Given the description of an element on the screen output the (x, y) to click on. 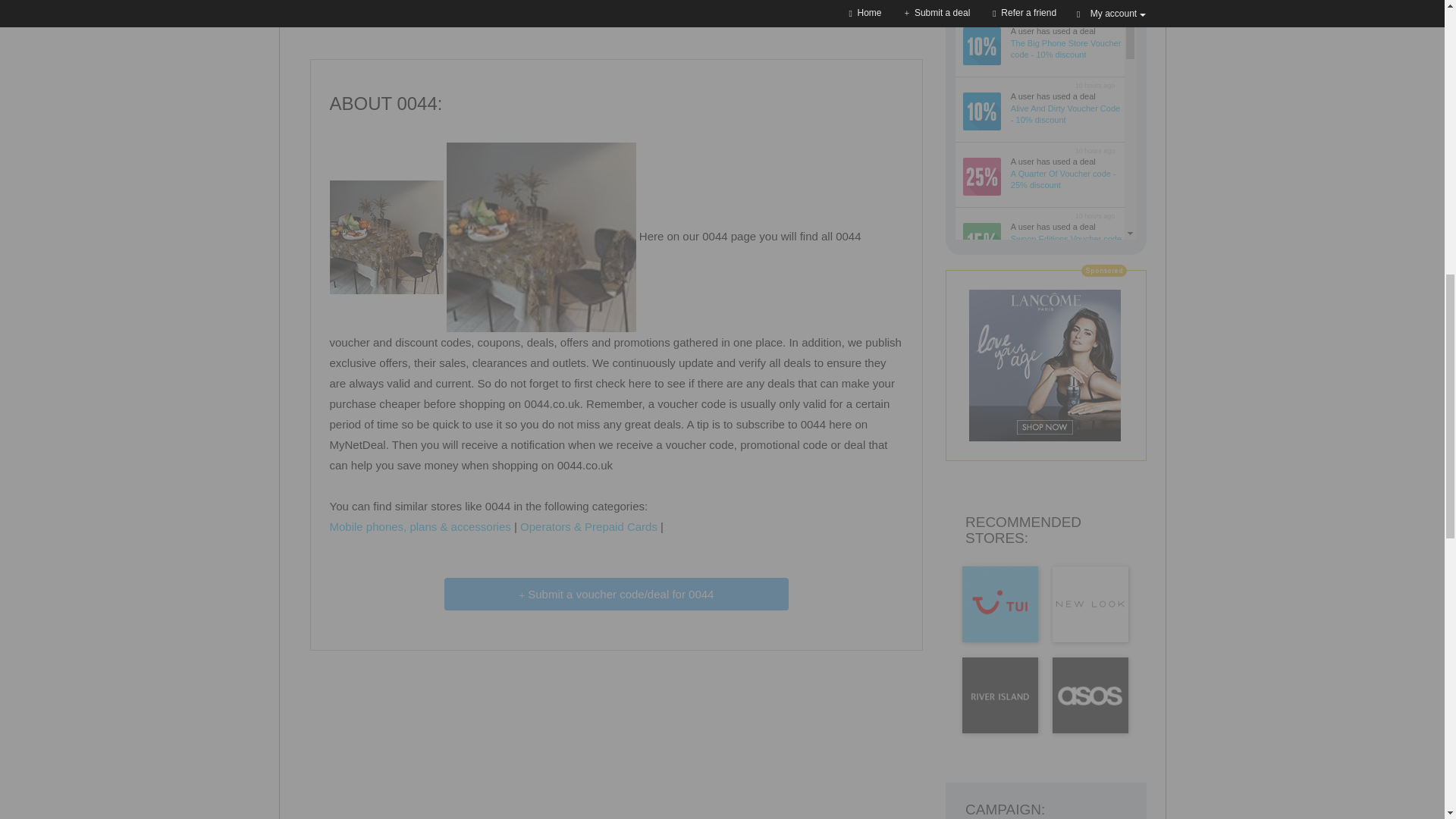
Lancome (616, 4)
Lancome (1045, 365)
